Given the description of an element on the screen output the (x, y) to click on. 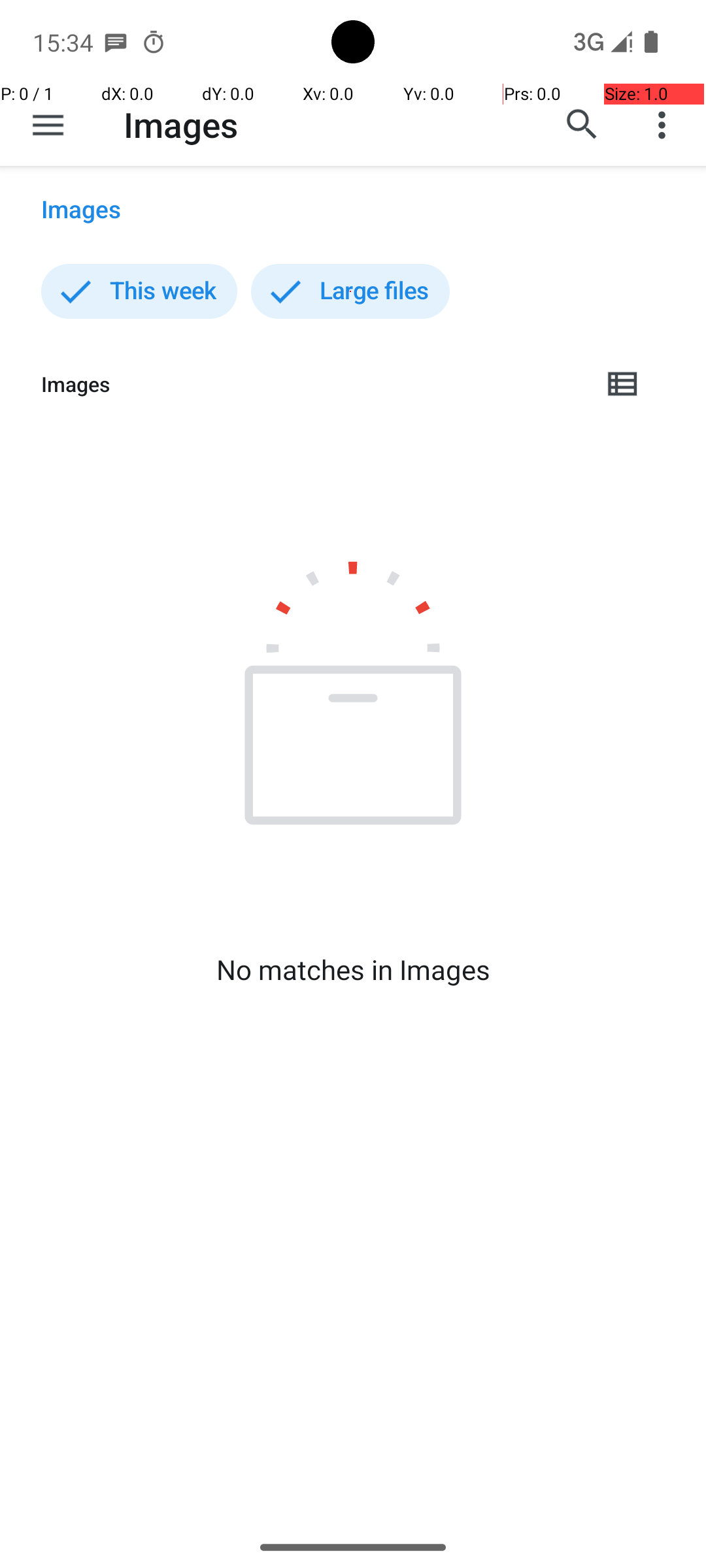
No matches in Images Element type: android.widget.TextView (352, 968)
